Given the description of an element on the screen output the (x, y) to click on. 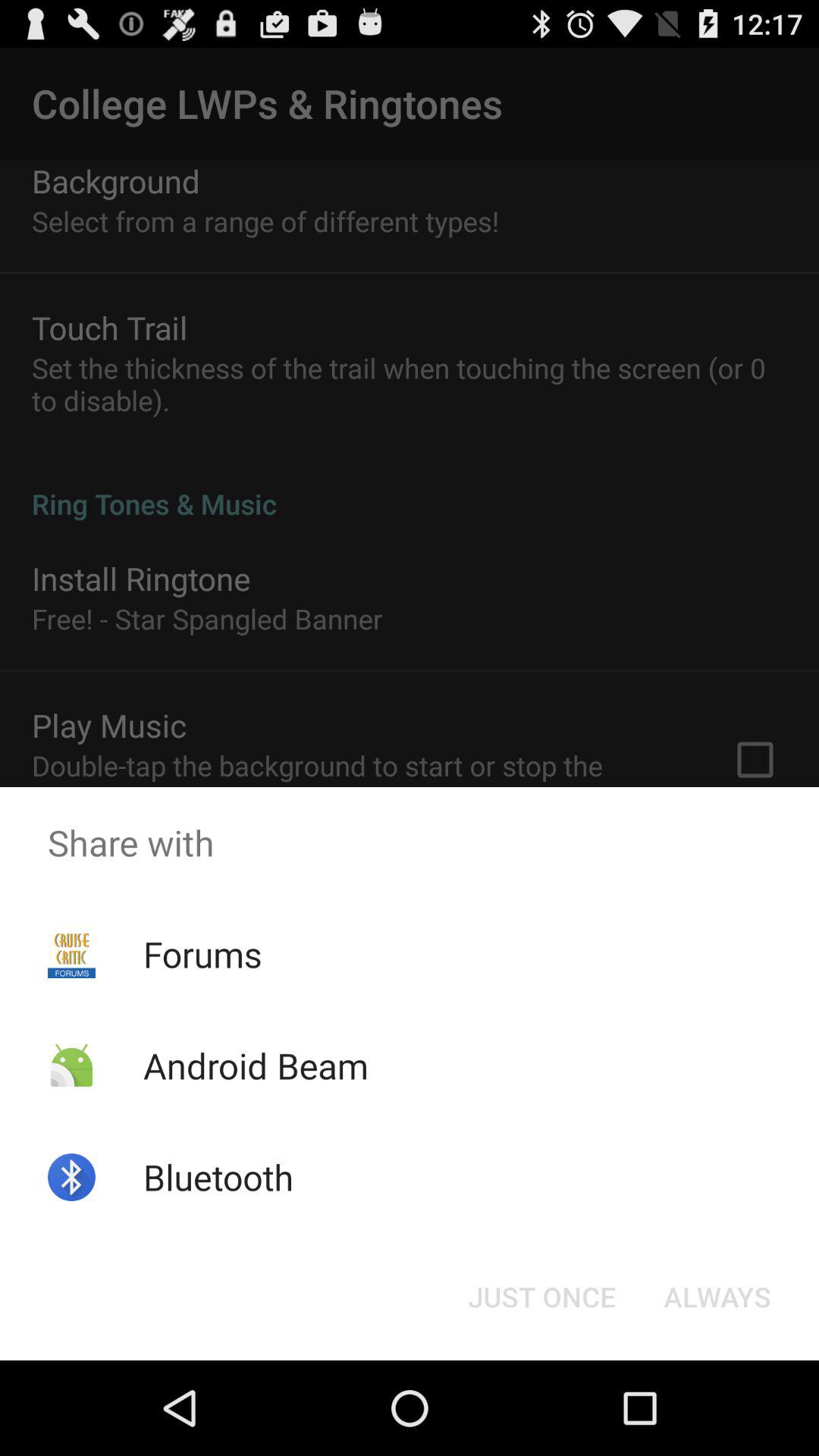
turn off item to the left of the always button (541, 1296)
